Given the description of an element on the screen output the (x, y) to click on. 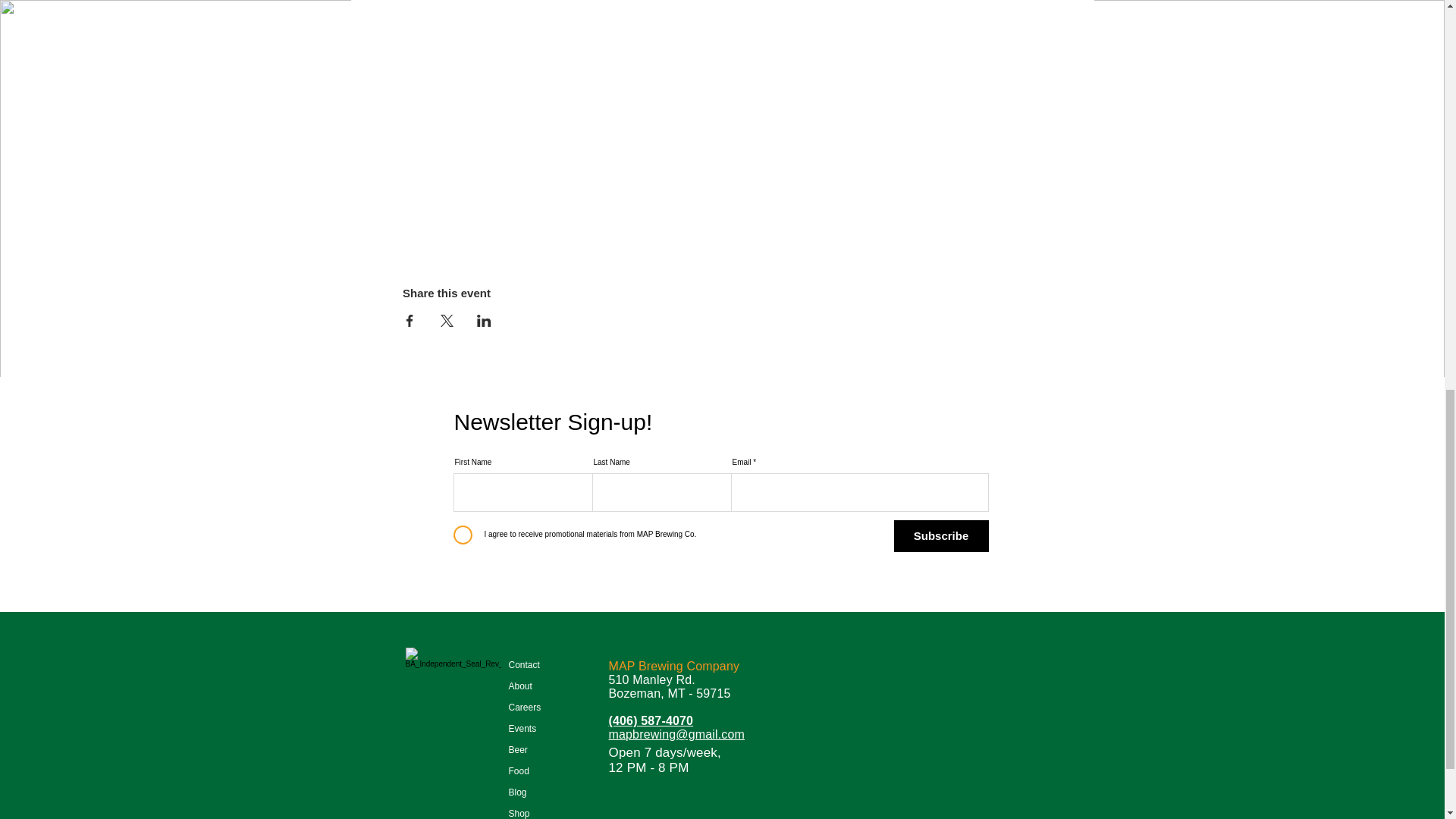
Careers (537, 707)
Food (537, 771)
Subscribe (940, 536)
About (537, 685)
Blog (537, 792)
Shop (537, 811)
Contact (537, 664)
Beer (537, 749)
Events (537, 728)
